Given the description of an element on the screen output the (x, y) to click on. 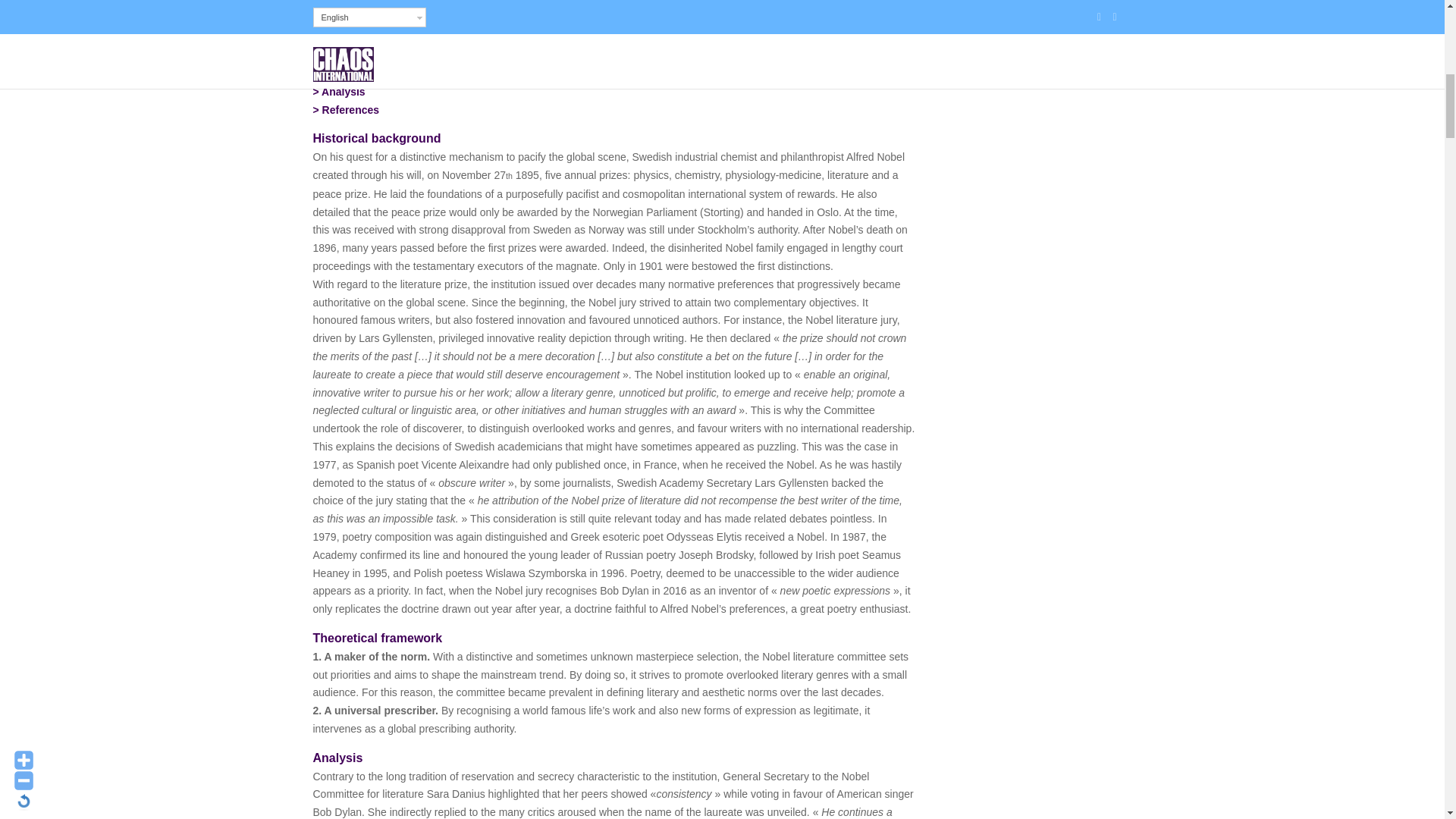
Historical background (377, 55)
Analysis (343, 91)
References (350, 110)
Theoretical framework (378, 73)
framework (378, 73)
background (377, 55)
Analysis (343, 91)
References (350, 110)
